Given the description of an element on the screen output the (x, y) to click on. 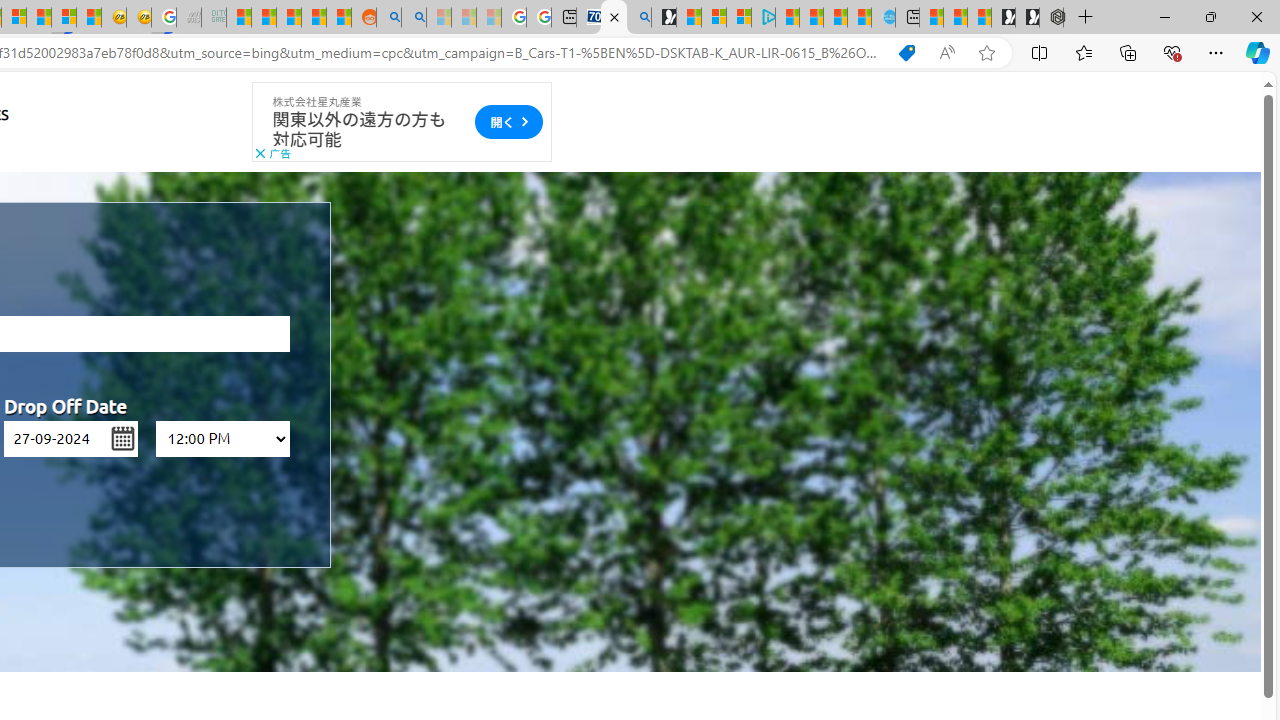
Collections (1128, 52)
Browser essentials (1171, 52)
Add this page to favorites (Ctrl+D) (986, 53)
Bing Real Estate - Home sales and rental listings (639, 17)
Split screen (1039, 52)
DITOGAMES AG Imprint - Sleeping (214, 17)
Microsoft account | Privacy (739, 17)
Read aloud this page (Ctrl+Shift+U) (946, 53)
Favorites (1083, 52)
Minimize (1164, 16)
